Given the description of an element on the screen output the (x, y) to click on. 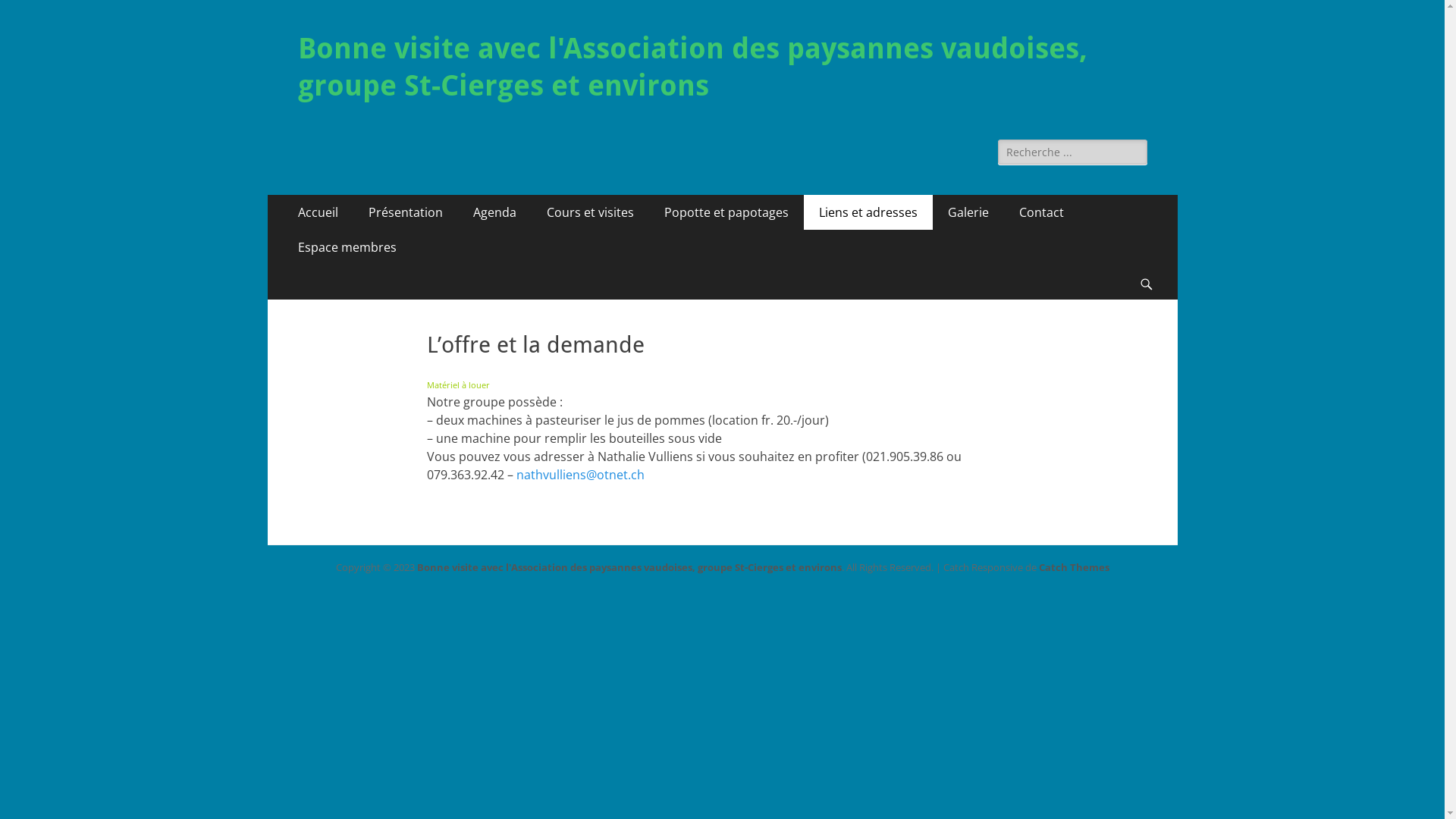
Agenda Element type: text (494, 211)
nathvulliens@otnet.ch Element type: text (579, 474)
Espace membres Element type: text (346, 246)
Catch Themes Element type: text (1073, 567)
Accueil Element type: text (317, 211)
Rechercher Element type: text (47, 13)
Liens et adresses Element type: text (867, 211)
Contact Element type: text (1041, 211)
Galerie Element type: text (968, 211)
Cours et visites Element type: text (589, 211)
Popotte et papotages Element type: text (726, 211)
Recherche Element type: text (1154, 264)
